Given the description of an element on the screen output the (x, y) to click on. 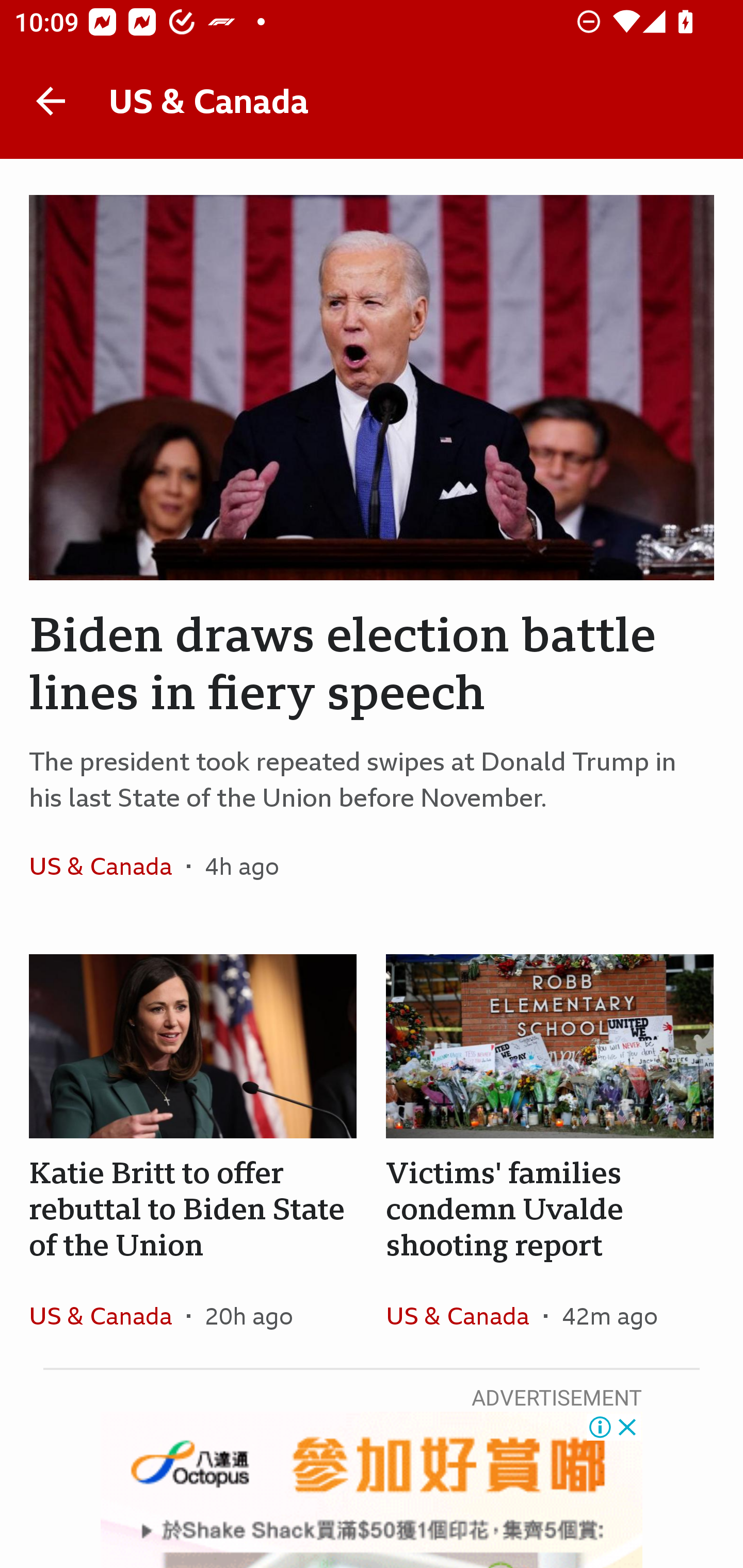
Back (50, 101)
US & Canada In the section US & Canada (107, 865)
US & Canada In the section US & Canada (107, 1315)
US & Canada In the section US & Canada (464, 1315)
Advertisement (371, 1489)
